Given the description of an element on the screen output the (x, y) to click on. 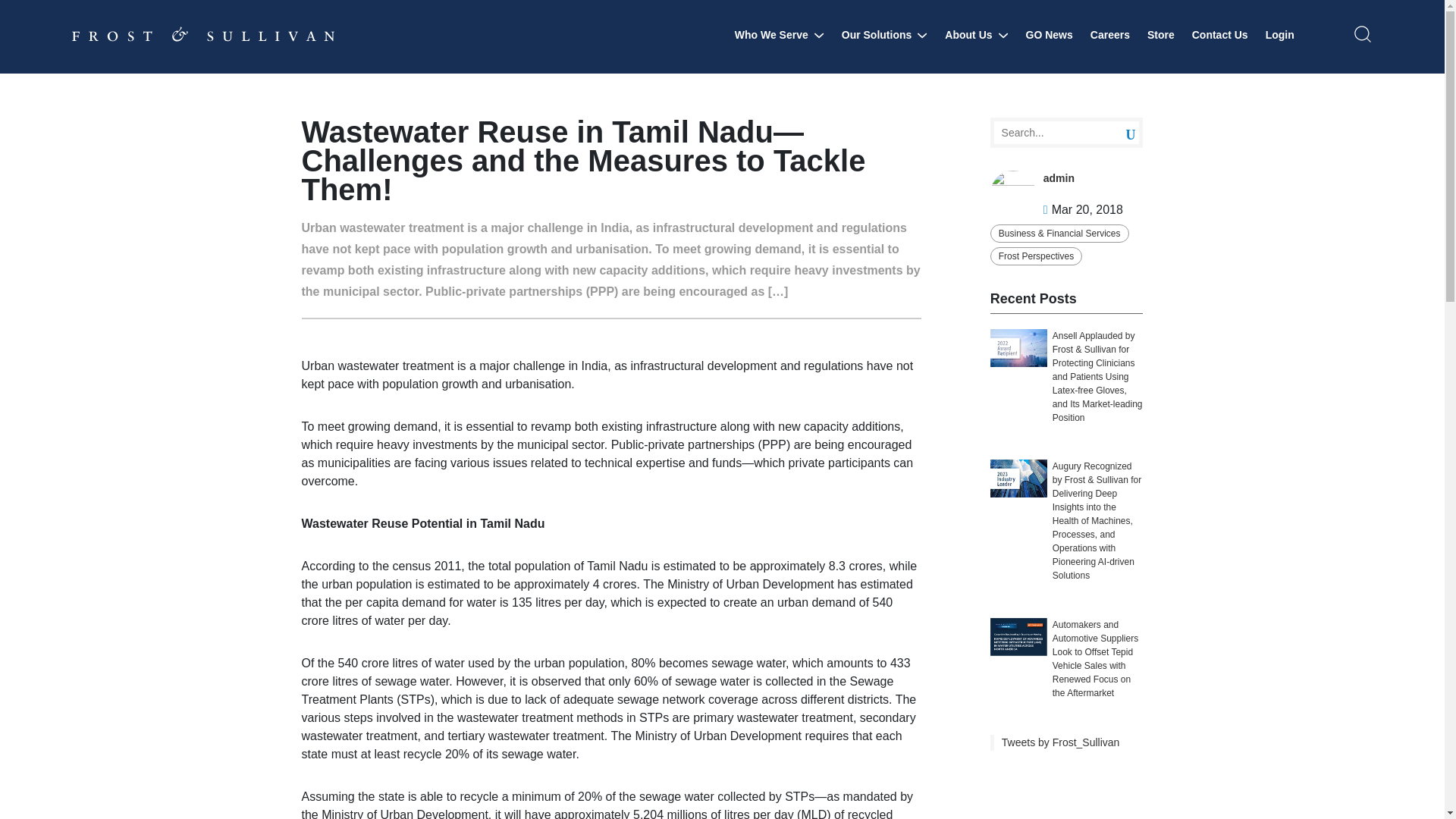
Who We Serve (779, 35)
Search (1118, 132)
